Given the description of an element on the screen output the (x, y) to click on. 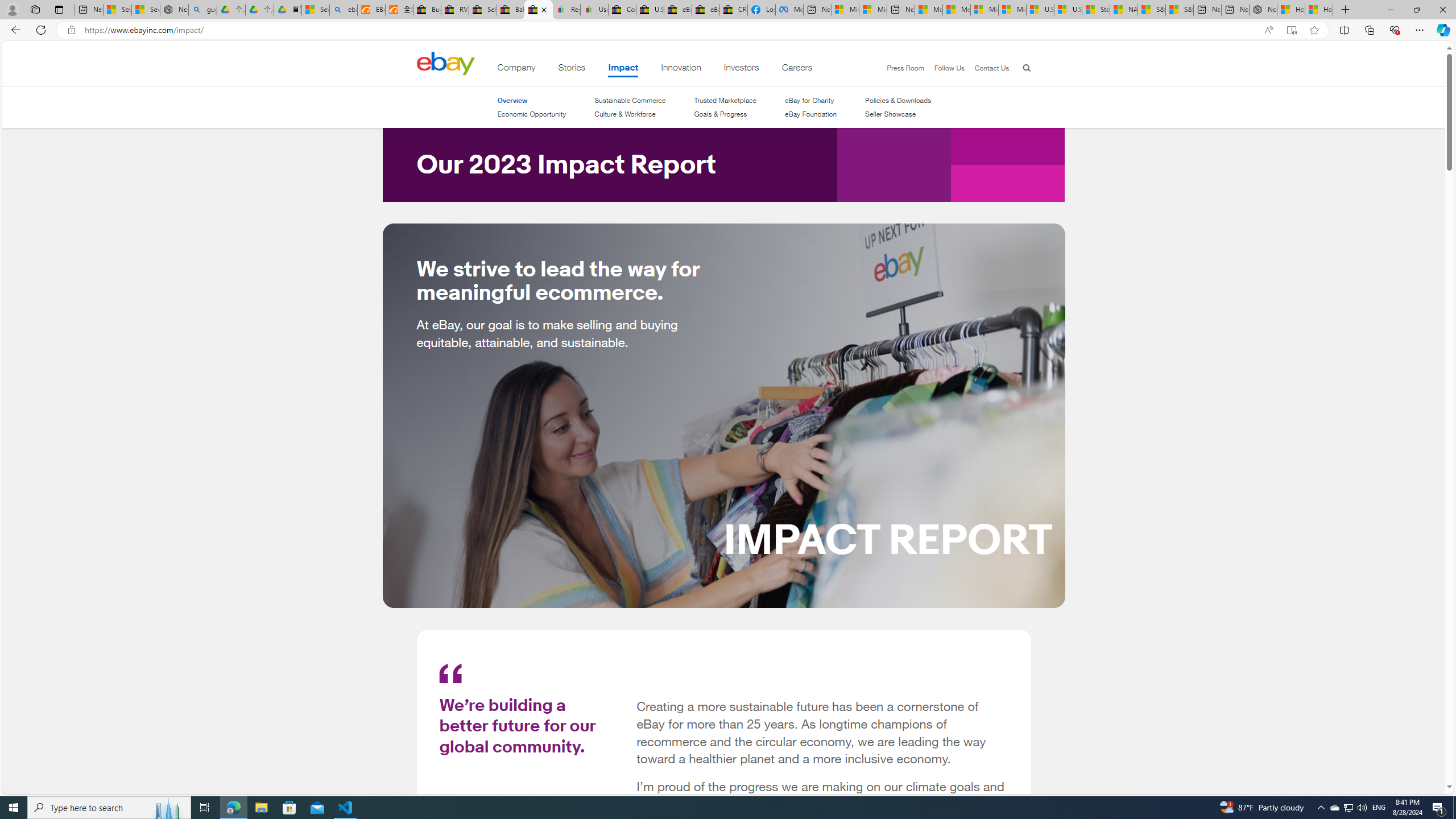
eBay Foundation (810, 113)
Company (515, 69)
Stories (571, 69)
eBay Foundation (810, 113)
U.S. State Privacy Disclosures - eBay Inc. (649, 9)
Outlook (1442, 98)
Consumer Health Data Privacy Policy - eBay Inc. (621, 9)
Follow Us (948, 67)
Culture & Workforce (624, 113)
S&P 500, Nasdaq end lower, weighed by Nvidia dip | Watch (1179, 9)
Seller Showcase (897, 113)
